Given the description of an element on the screen output the (x, y) to click on. 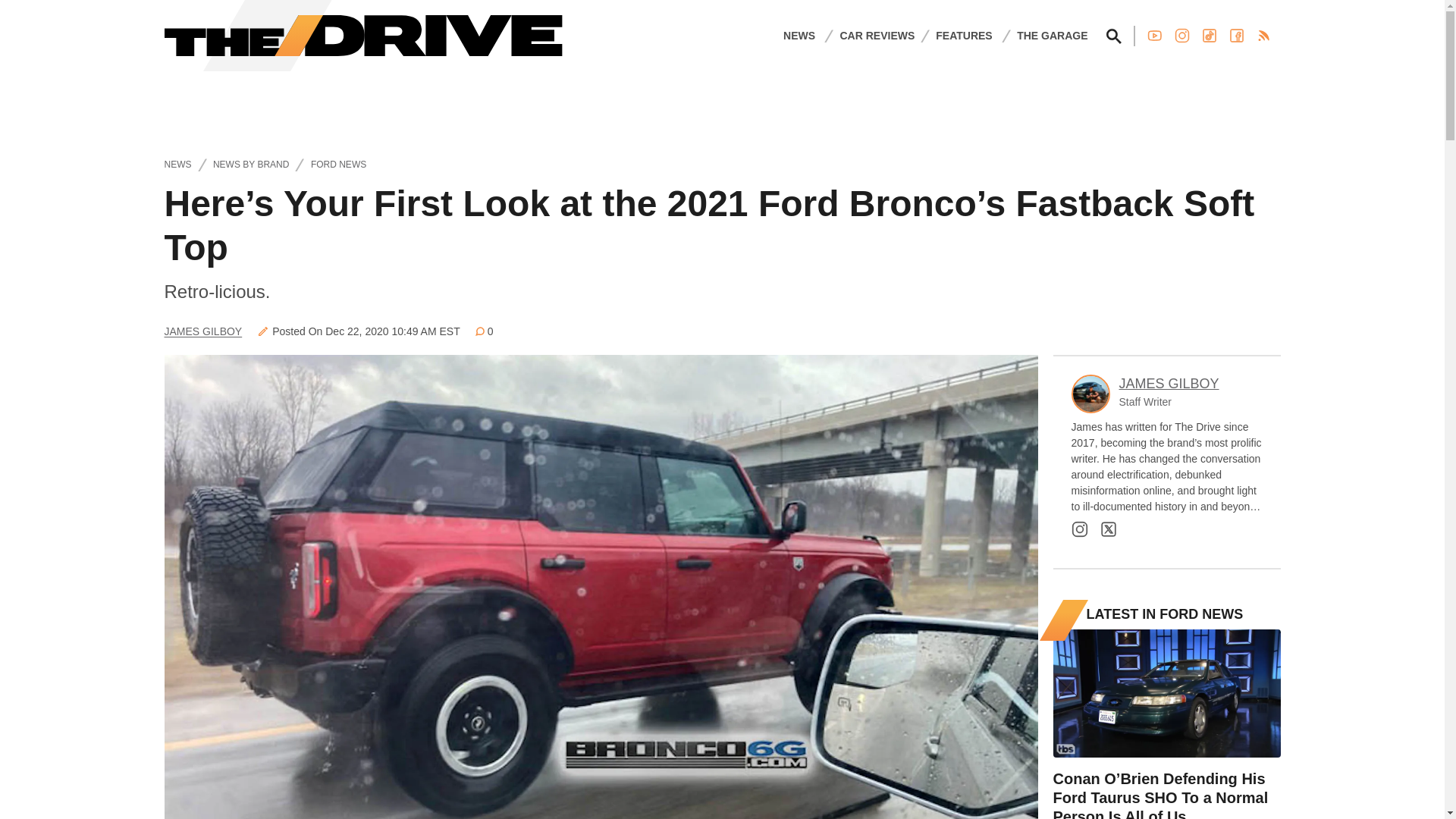
NEWS (799, 34)
